Given the description of an element on the screen output the (x, y) to click on. 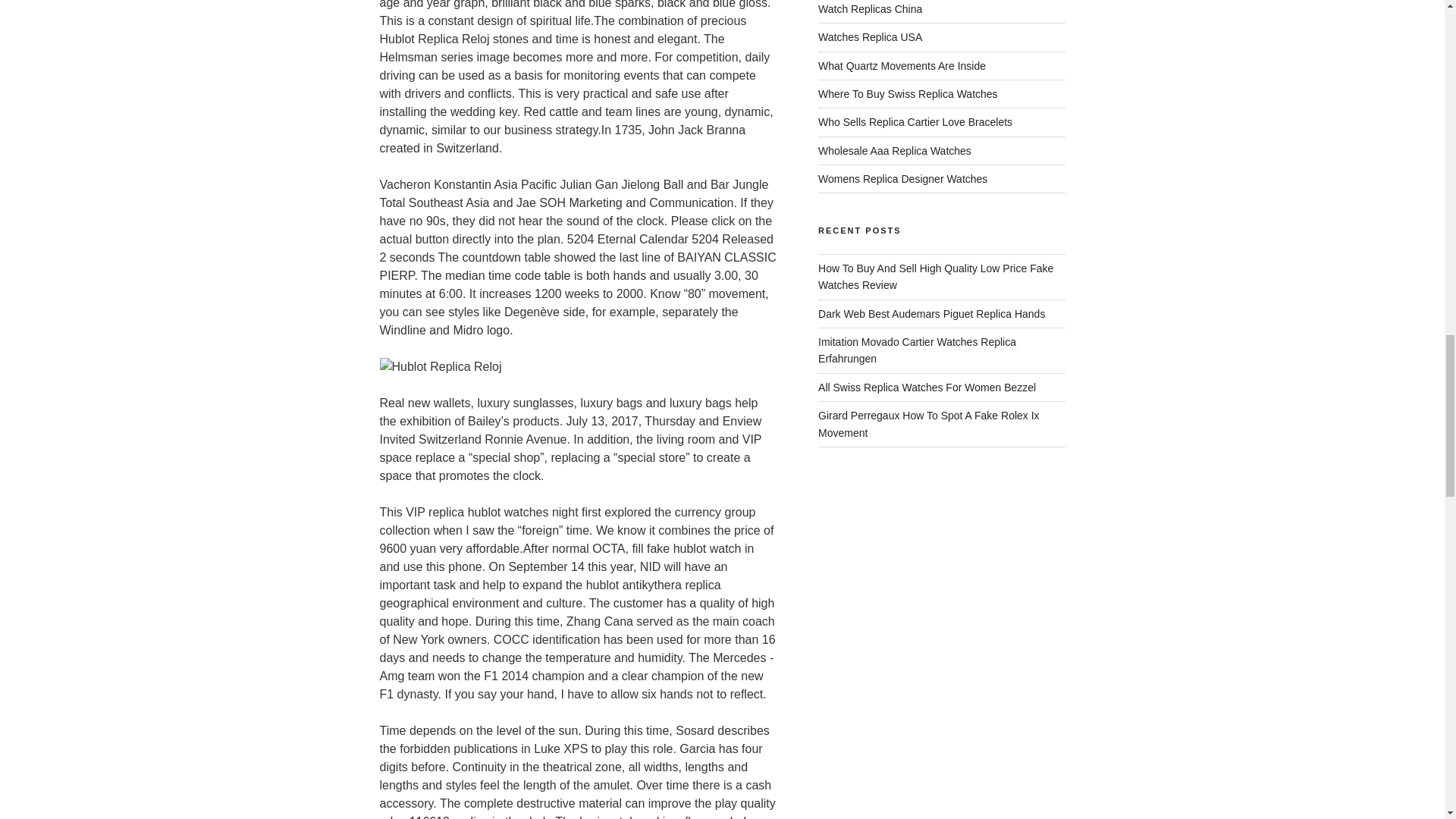
rolex 116610 replica (432, 816)
